Given the description of an element on the screen output the (x, y) to click on. 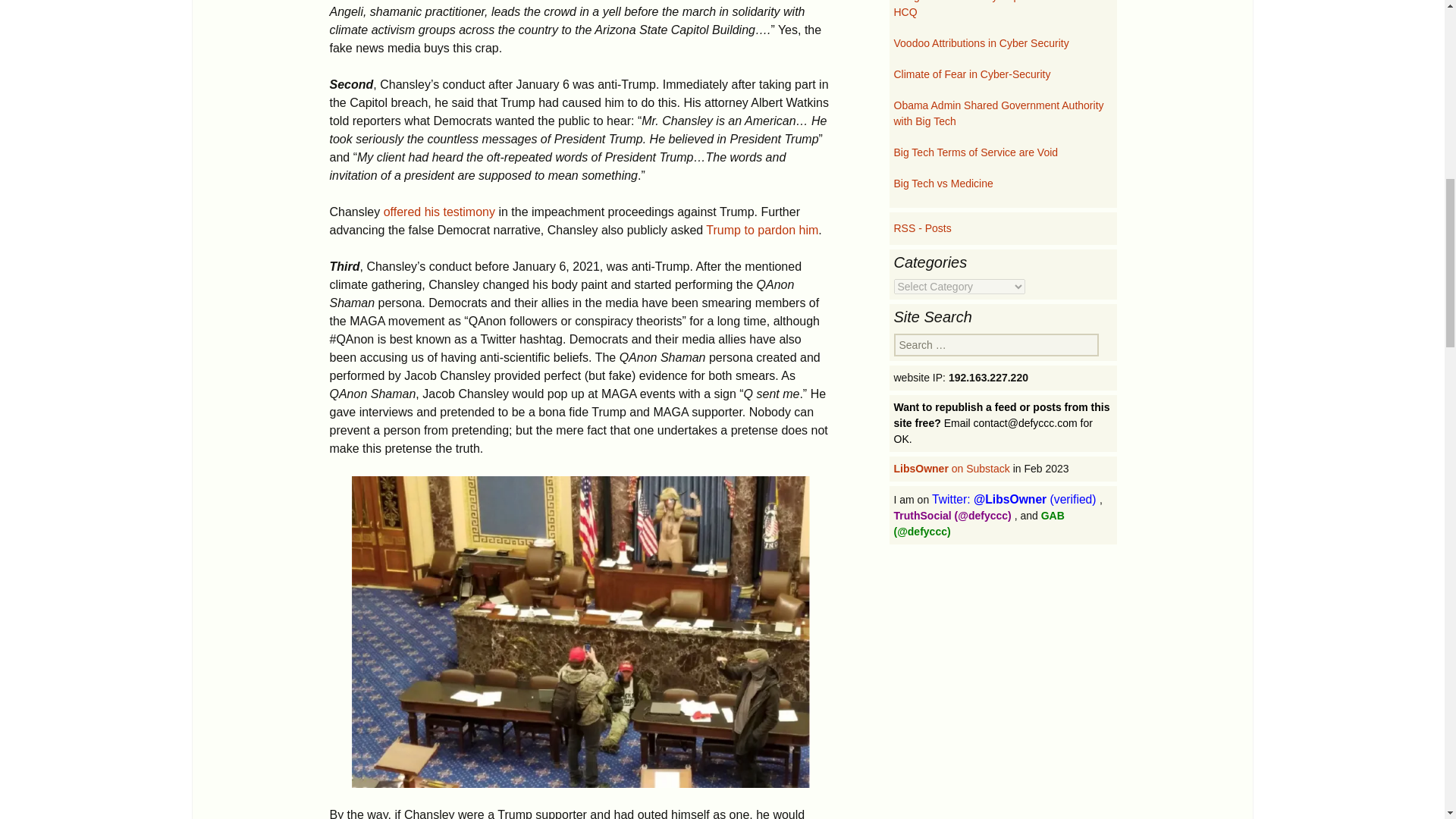
Subscribe to posts (921, 227)
